Given the description of an element on the screen output the (x, y) to click on. 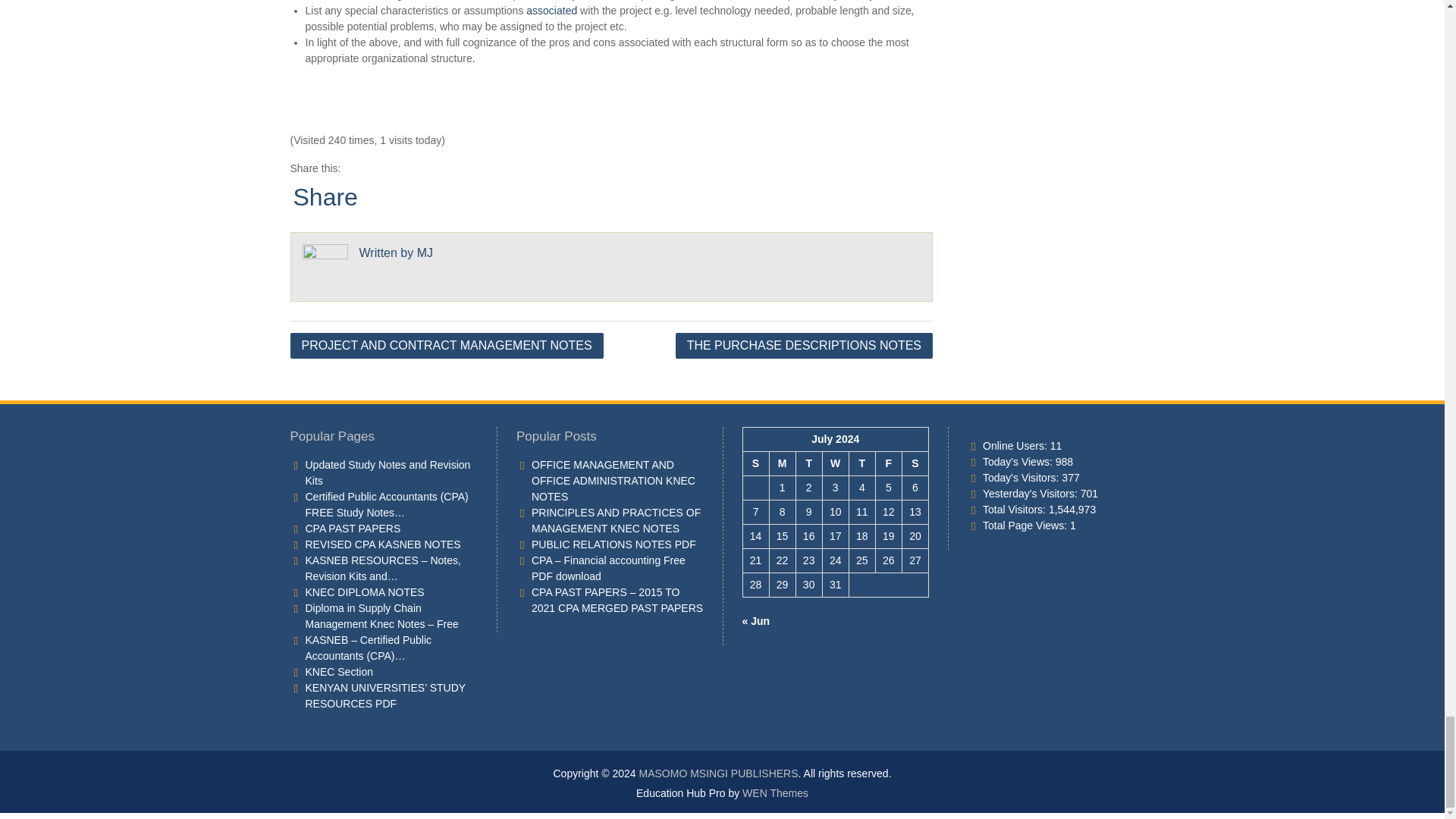
THE PURCHASE DESCRIPTIONS NOTES (804, 344)
Saturday (914, 463)
Posts by MJ (424, 251)
Share (324, 196)
Thursday (861, 463)
Monday (781, 463)
associated (550, 10)
MJ (424, 251)
Sunday (755, 463)
Friday (888, 463)
PROJECT AND CONTRACT MANAGEMENT NOTES (445, 344)
Tuesday (808, 463)
Wednesday (835, 463)
